Given the description of an element on the screen output the (x, y) to click on. 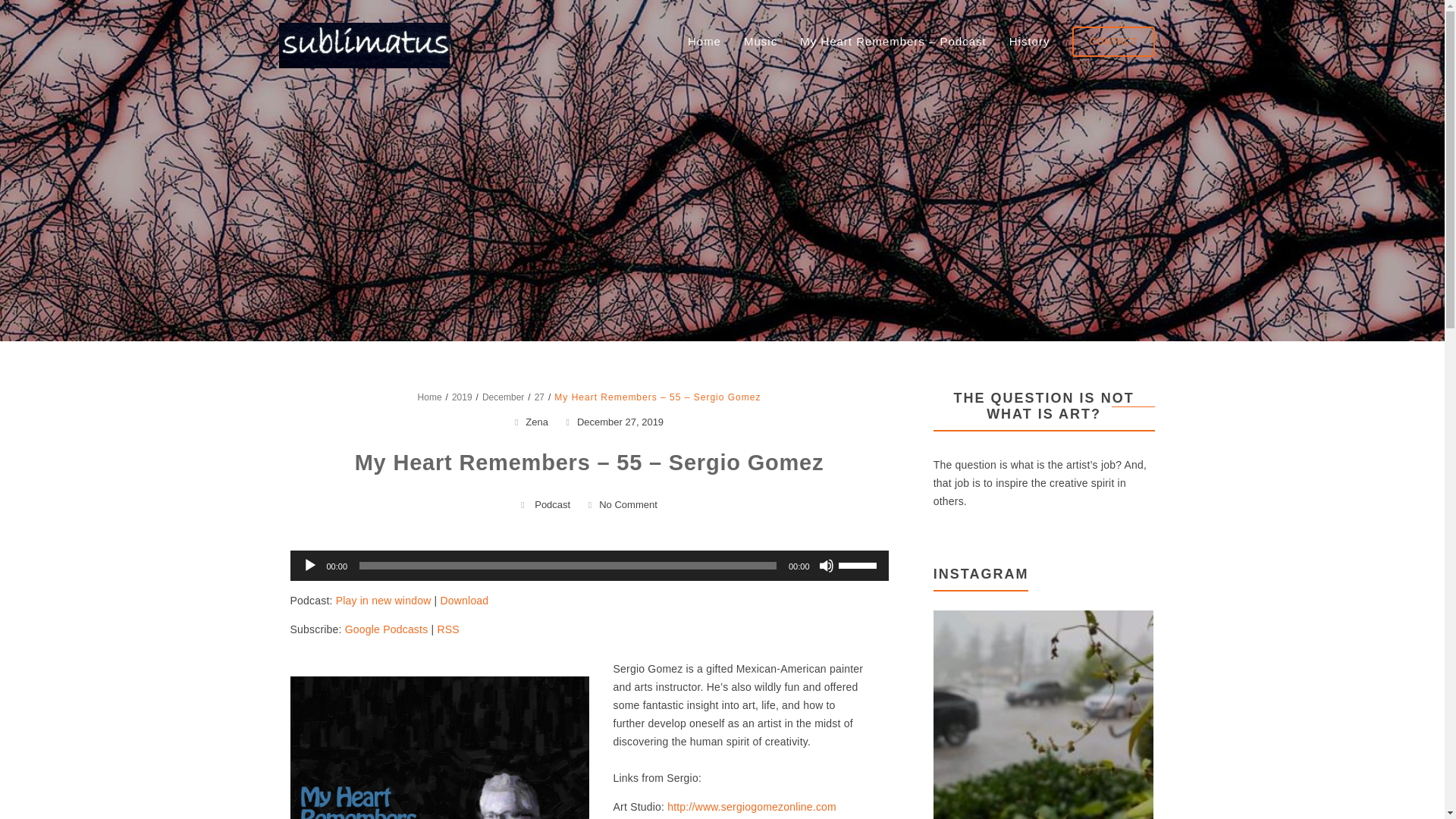
December (502, 397)
Subscribe via RSS (447, 629)
CONTACT (1112, 41)
2019 (461, 397)
History (1029, 41)
27 (539, 397)
Download (463, 600)
Download (463, 600)
Home (429, 397)
Play in new window (383, 600)
History (1029, 41)
Play in new window (383, 600)
RSS (447, 629)
Zena (536, 421)
Posts by Zena (536, 421)
